Given the description of an element on the screen output the (x, y) to click on. 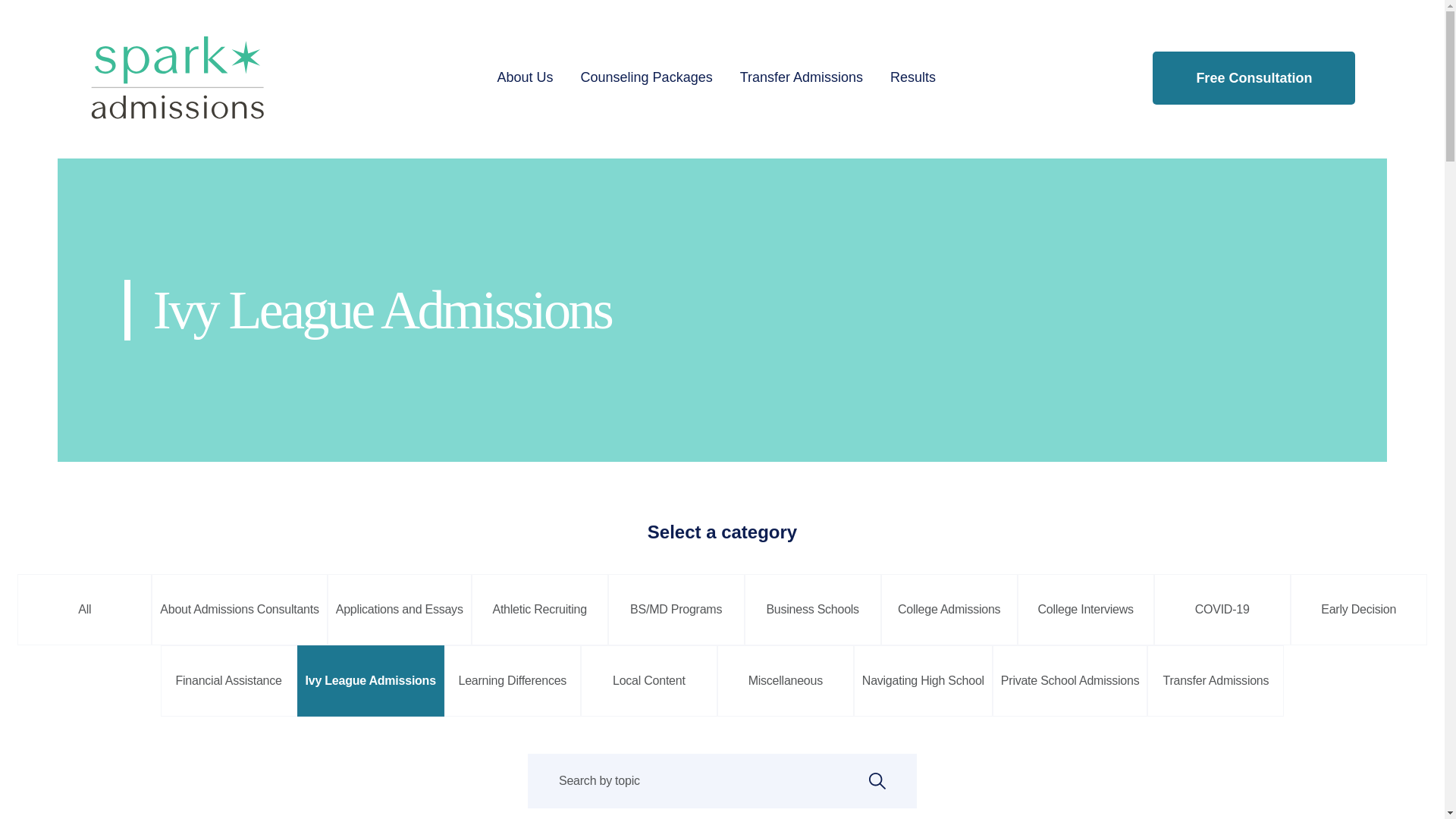
College Interviews (1085, 609)
College Admissions (948, 609)
Navigating High School (922, 680)
Private School Admissions (1070, 680)
Ivy League Admissions (370, 680)
COVID-19 (1222, 609)
All (84, 609)
Local Content (648, 680)
Financial Assistance (228, 680)
Free Consultation (1254, 77)
Miscellaneous (785, 680)
Early Decision (1358, 609)
Transfer Admissions (1215, 680)
Athletic Recruiting (539, 609)
Learning Differences (512, 680)
